Given the description of an element on the screen output the (x, y) to click on. 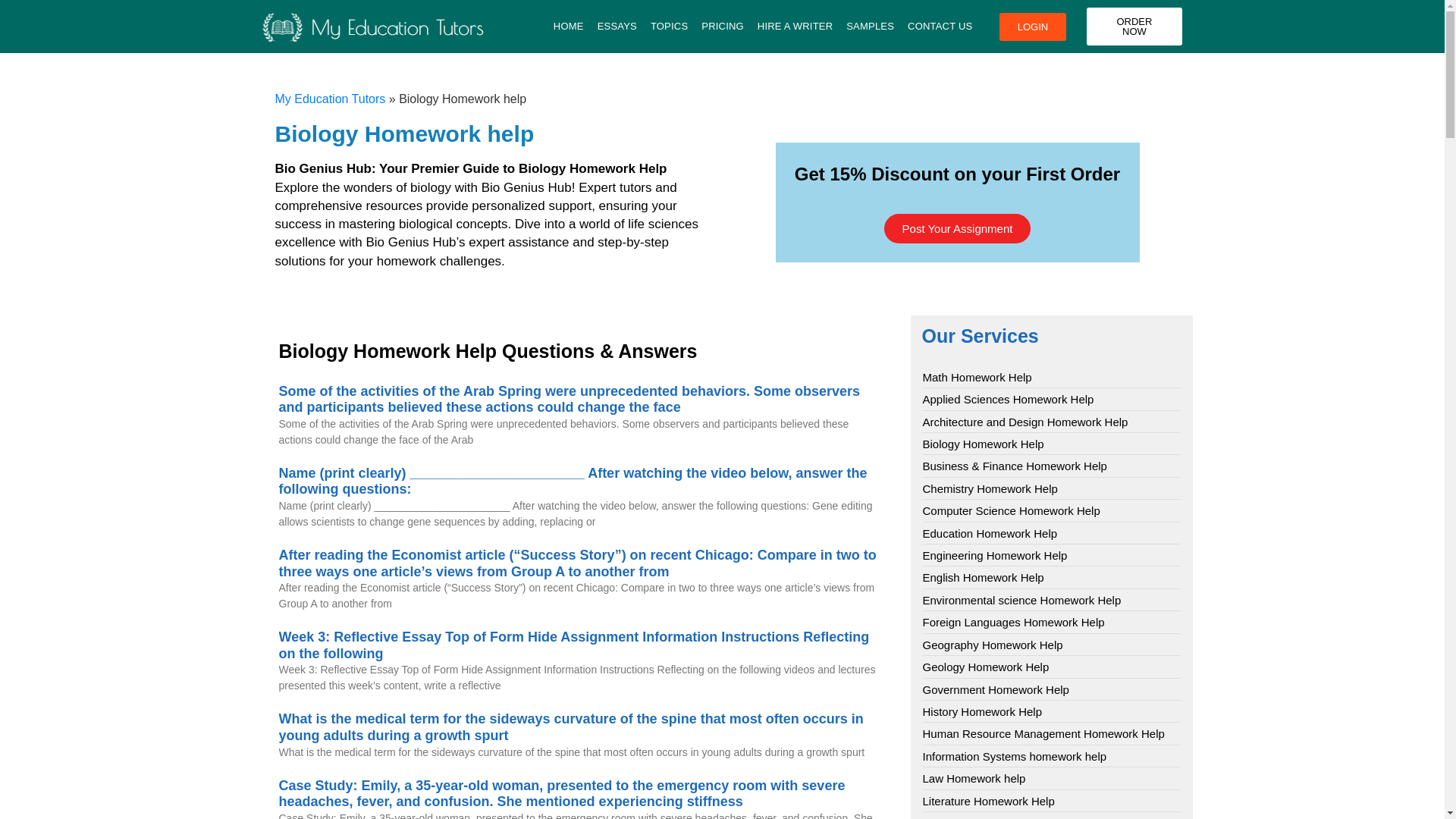
CONTACT US (939, 26)
ESSAYS (617, 26)
PRICING (722, 26)
Post Your Assignment (956, 228)
TOPICS (668, 26)
HOME (569, 26)
HIRE A WRITER (795, 26)
My Education Tutors (330, 98)
LOGIN (1031, 26)
SAMPLES (870, 26)
ORDER NOW (1134, 26)
